Given the description of an element on the screen output the (x, y) to click on. 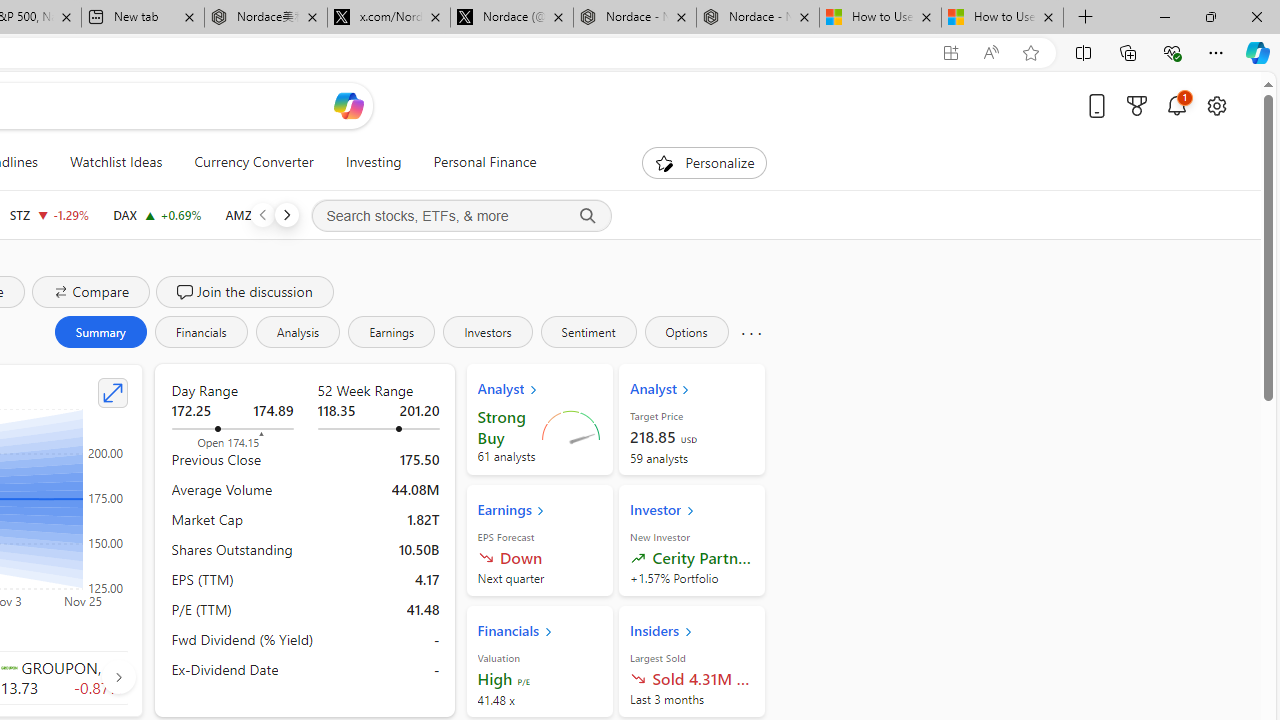
Open settings (1216, 105)
How to Use a Monitor With Your Closed Laptop (1002, 17)
x.com/NordaceOfficial (388, 17)
Investors (487, 331)
